Given the description of an element on the screen output the (x, y) to click on. 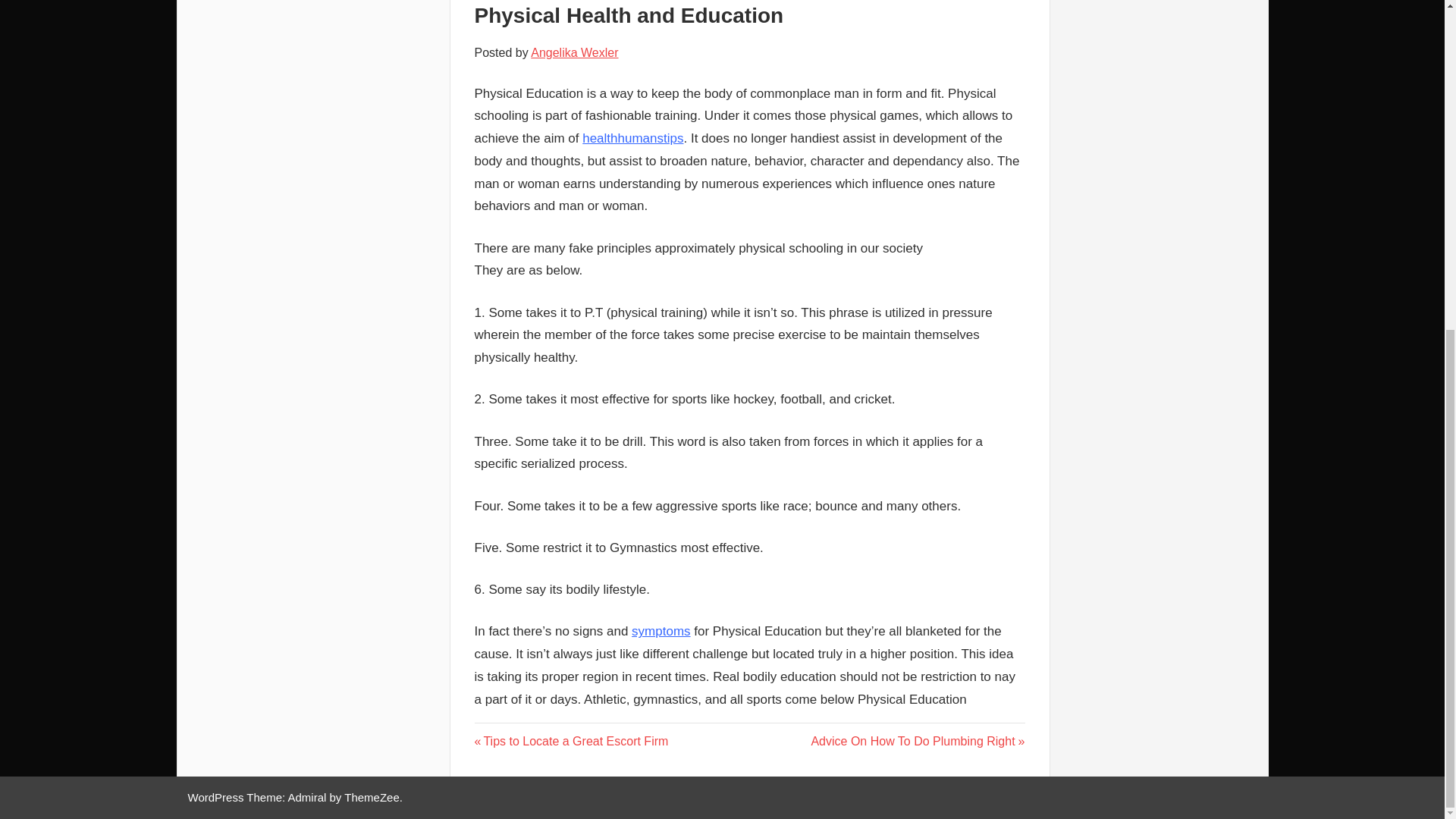
Angelika Wexler (574, 51)
symptoms (660, 631)
healthhumanstips (571, 740)
View all posts by Angelika Wexler (632, 138)
